Given the description of an element on the screen output the (x, y) to click on. 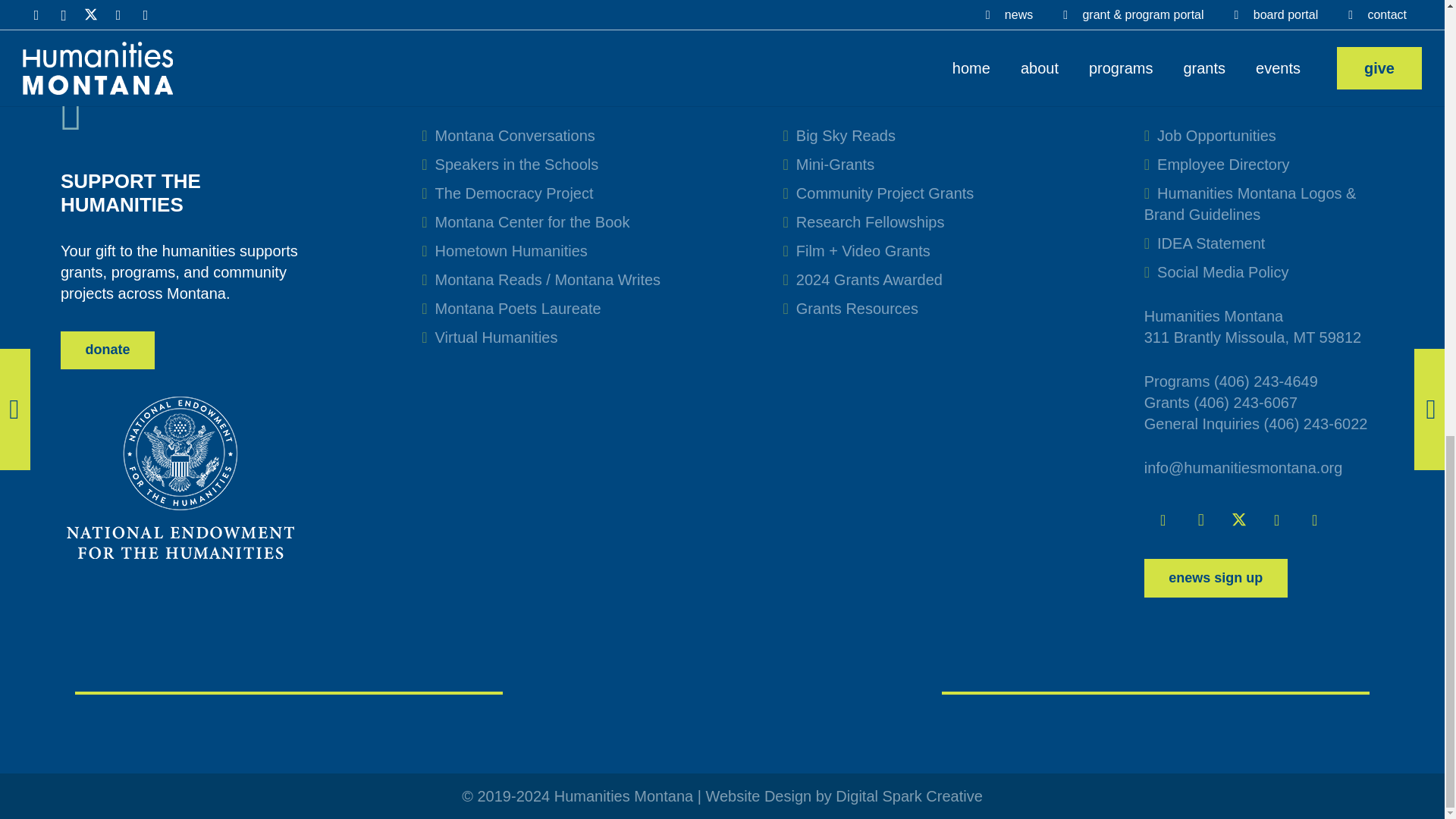
YouTube (1276, 519)
Twitter (1238, 519)
Donate (107, 350)
Facebook (1163, 519)
Flickr (1314, 519)
Instagram (1201, 519)
